Given the description of an element on the screen output the (x, y) to click on. 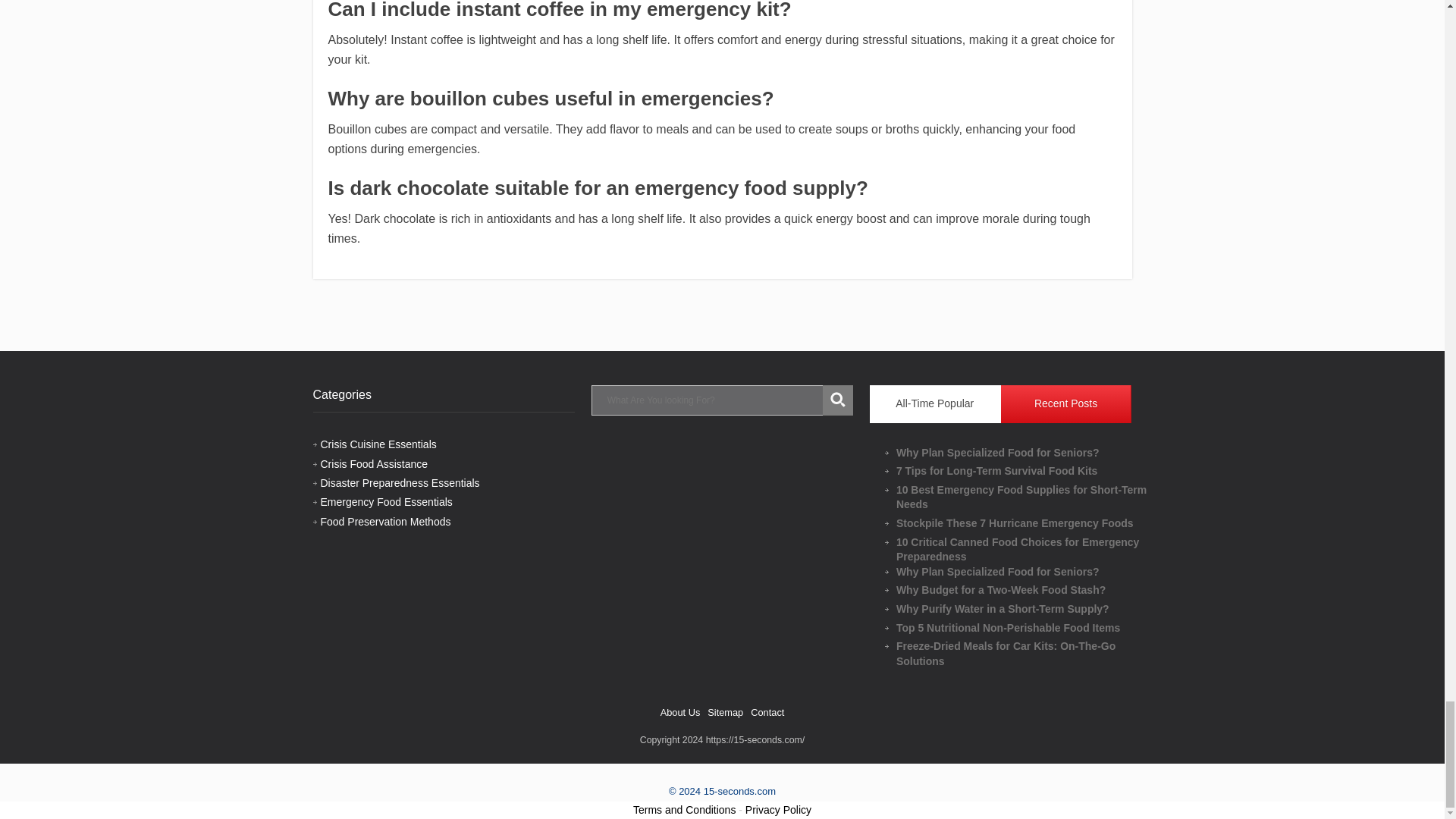
Crisis Cuisine Essentials (377, 444)
Disaster Preparedness Essentials (399, 482)
Top 5 Nutritional Non-Perishable Food Items (1027, 628)
Recent Posts (1066, 403)
Contact (767, 712)
7 Tips for Long-Term Survival Food Kits (1027, 471)
About Us (680, 712)
10 Best Emergency Food Supplies for Short-Term Needs (1027, 497)
Why Plan Specialized Food for Seniors? (1027, 572)
All-Time Popular (935, 403)
